Given the description of an element on the screen output the (x, y) to click on. 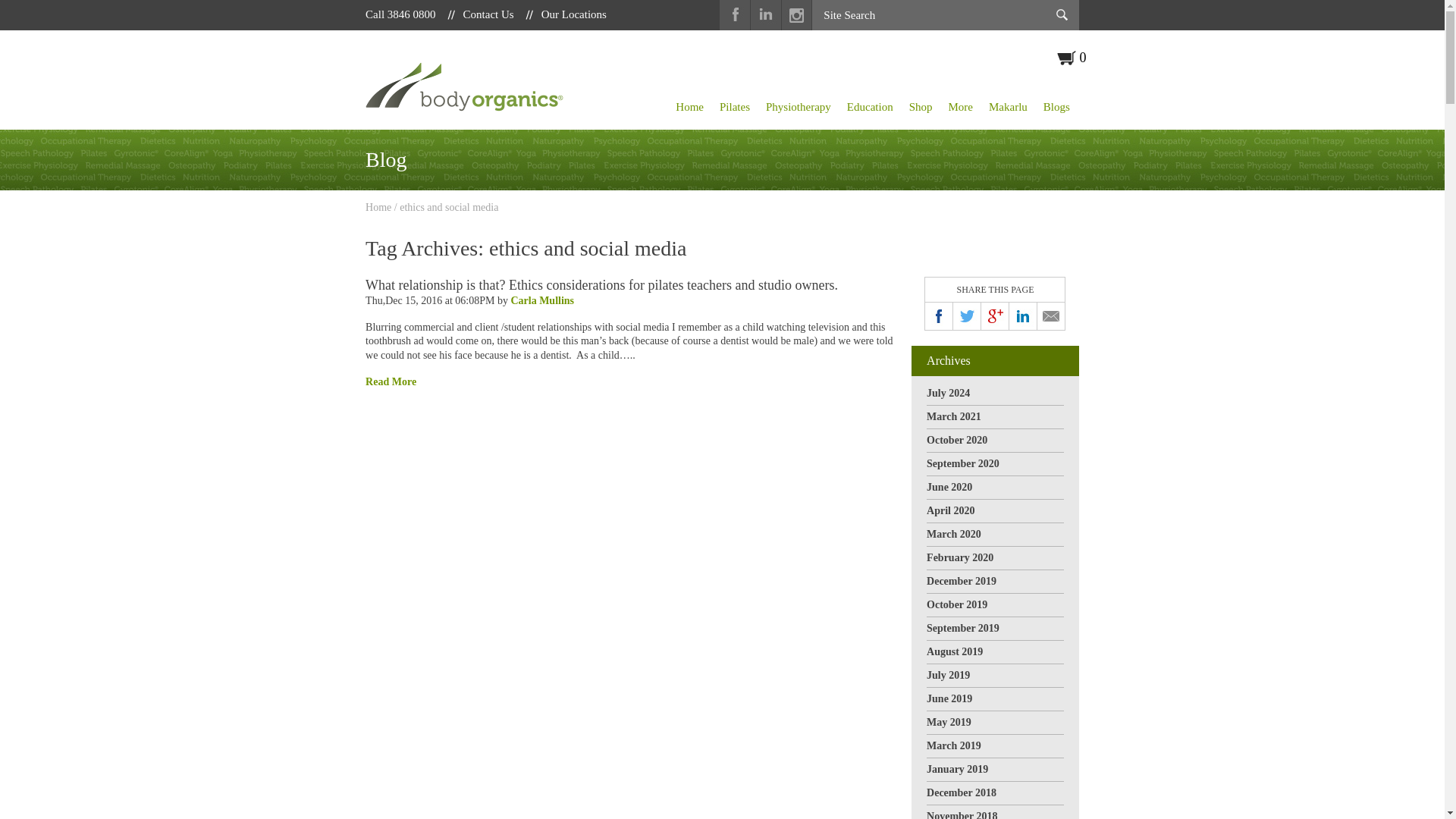
Pilates (735, 106)
Posts by Carla Mullins (542, 300)
Body Organics (464, 86)
Go to Body Organics. (378, 206)
Site Search (923, 15)
Call 3846 0800 (400, 14)
Education (871, 106)
Physiotherapy (799, 106)
Contact Us (488, 14)
Home (690, 106)
